Given the description of an element on the screen output the (x, y) to click on. 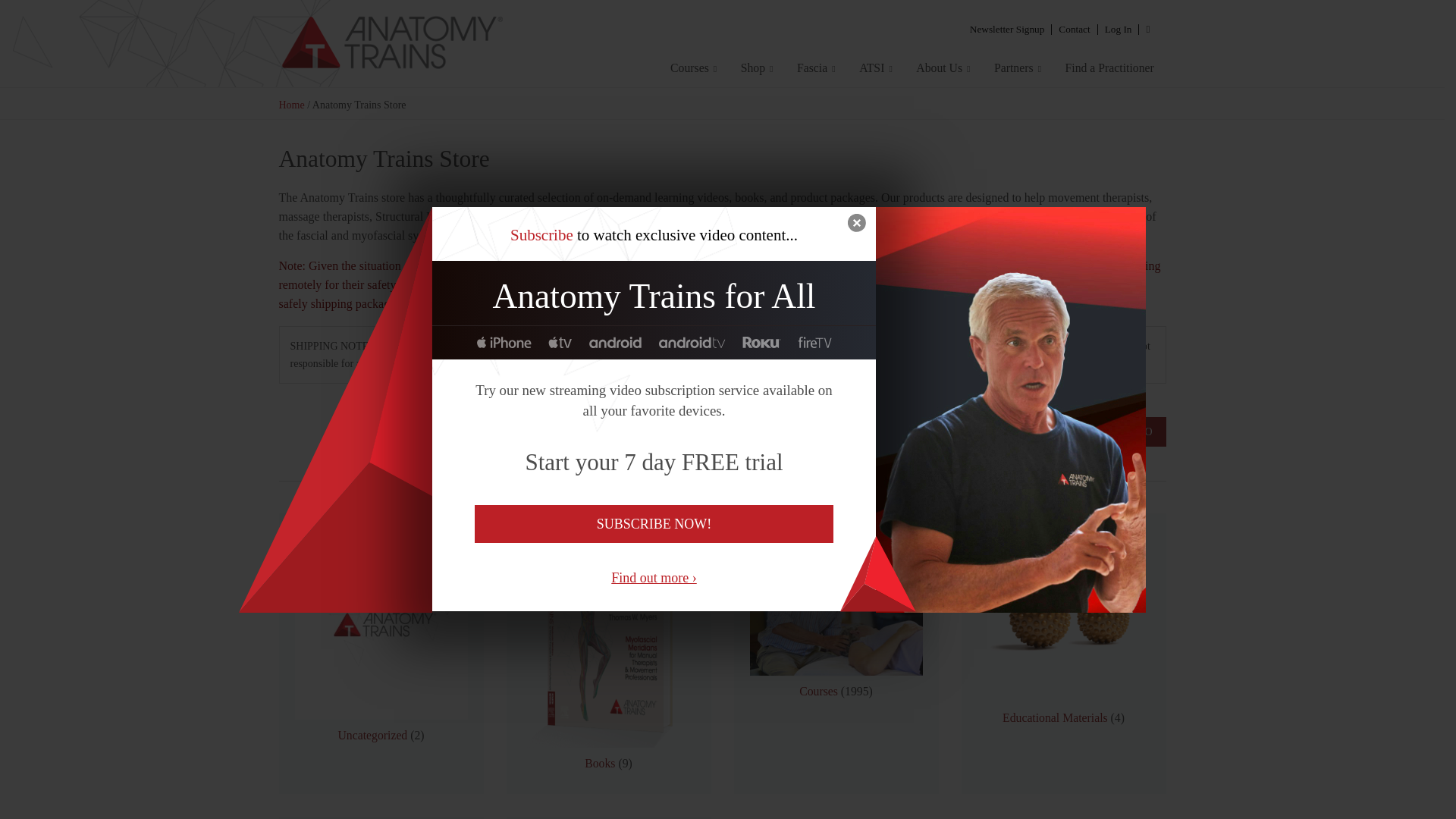
Anatomy Trains (254, 43)
Log In (1117, 28)
Courses (693, 67)
ATSI (875, 67)
Newsletter Signup (1006, 28)
Courses (693, 67)
Log In (1117, 28)
SUBSCRIBE NOW! (653, 523)
Fascia (815, 67)
Shop (756, 67)
